Given the description of an element on the screen output the (x, y) to click on. 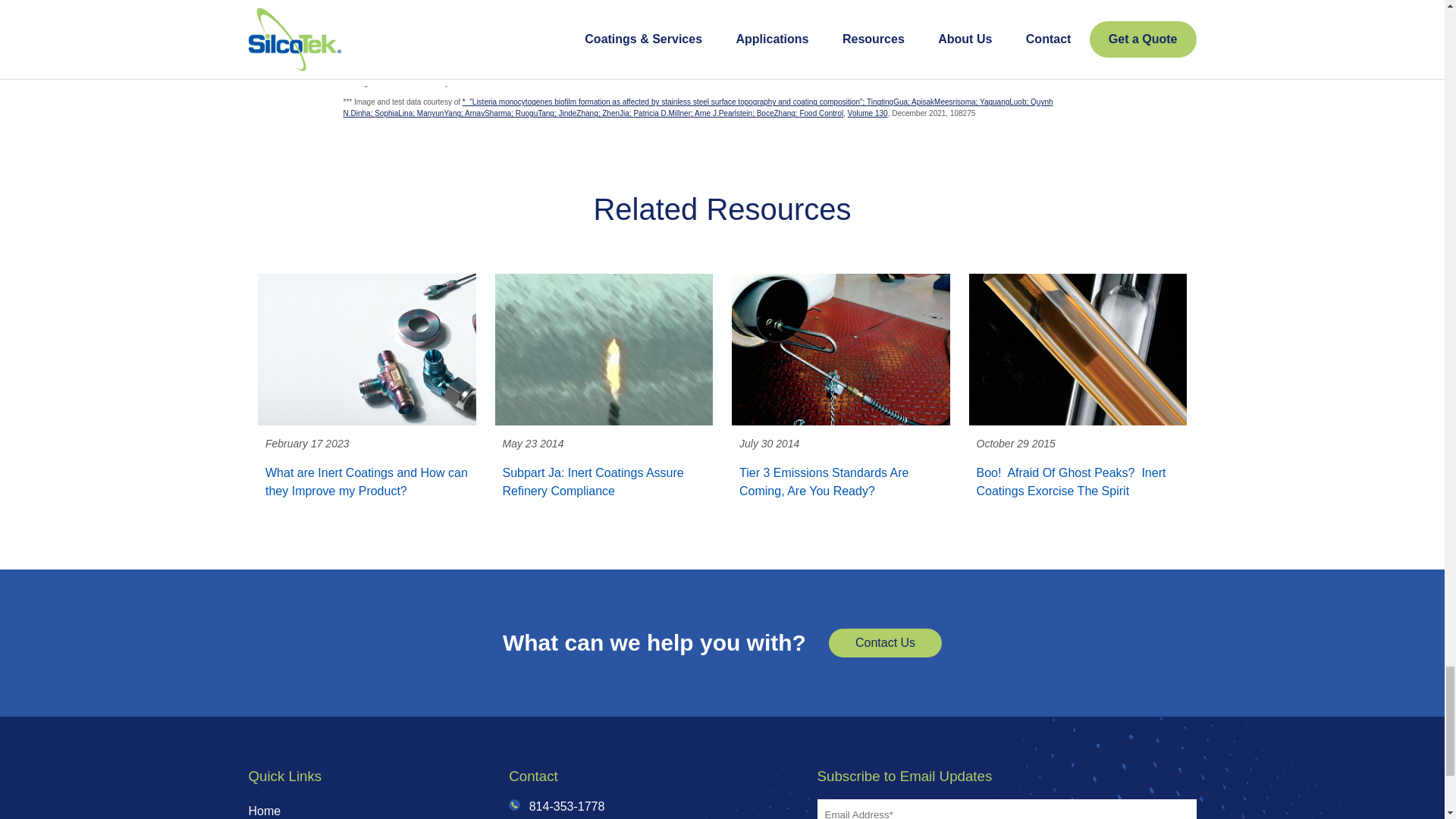
Go to Food Control on ScienceDirect (821, 112)
